Given the description of an element on the screen output the (x, y) to click on. 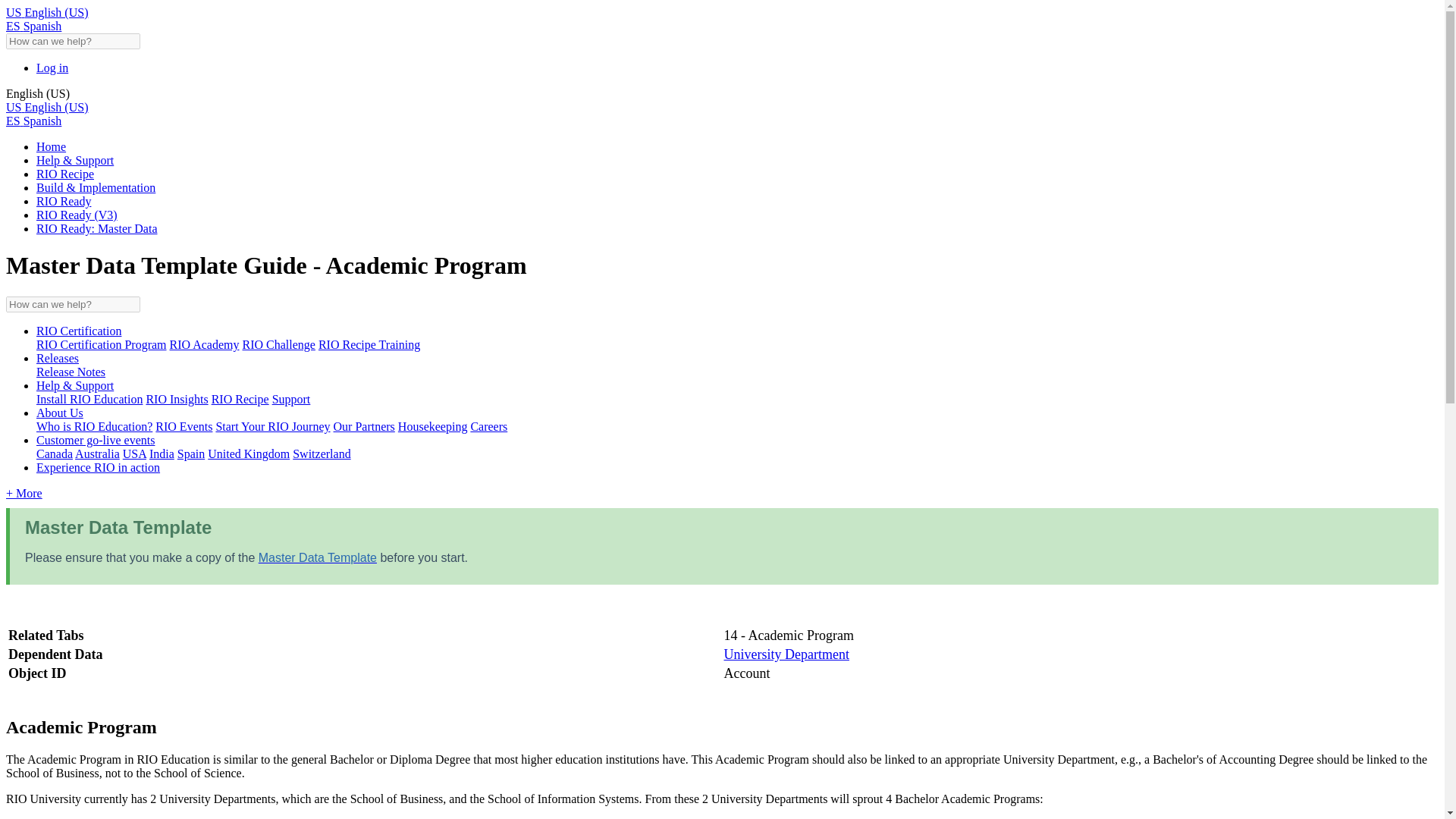
RIO Certification (78, 330)
Who is RIO Education? (94, 426)
RIO Recipe (65, 173)
Our Partners (363, 426)
RIO Challenge (279, 344)
About Us (59, 412)
Install RIO Education (89, 399)
Housekeeping (432, 426)
RIO Recipe (240, 399)
Releases (57, 358)
